Given the description of an element on the screen output the (x, y) to click on. 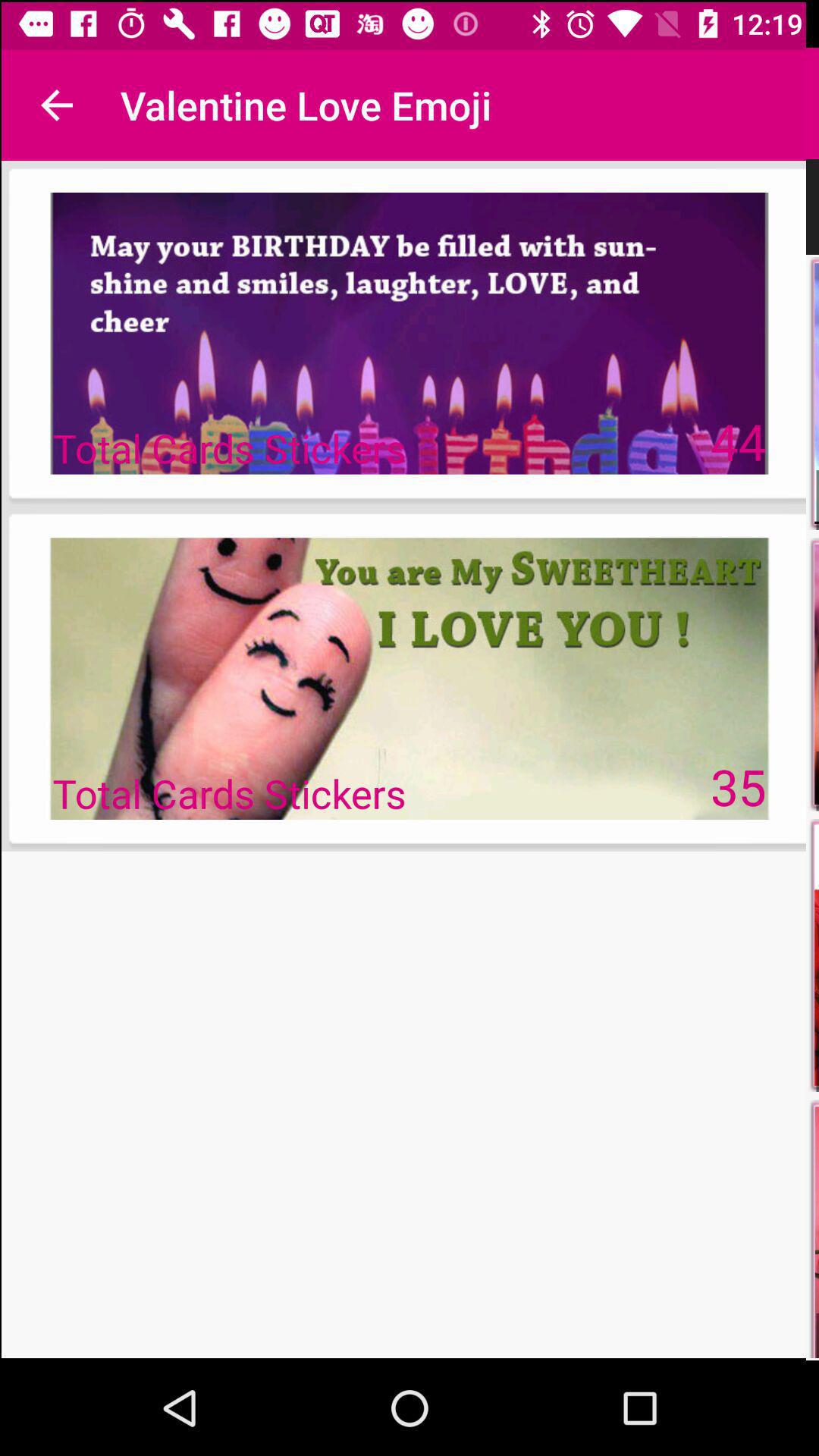
turn off the item next to total cards stickers (739, 786)
